Given the description of an element on the screen output the (x, y) to click on. 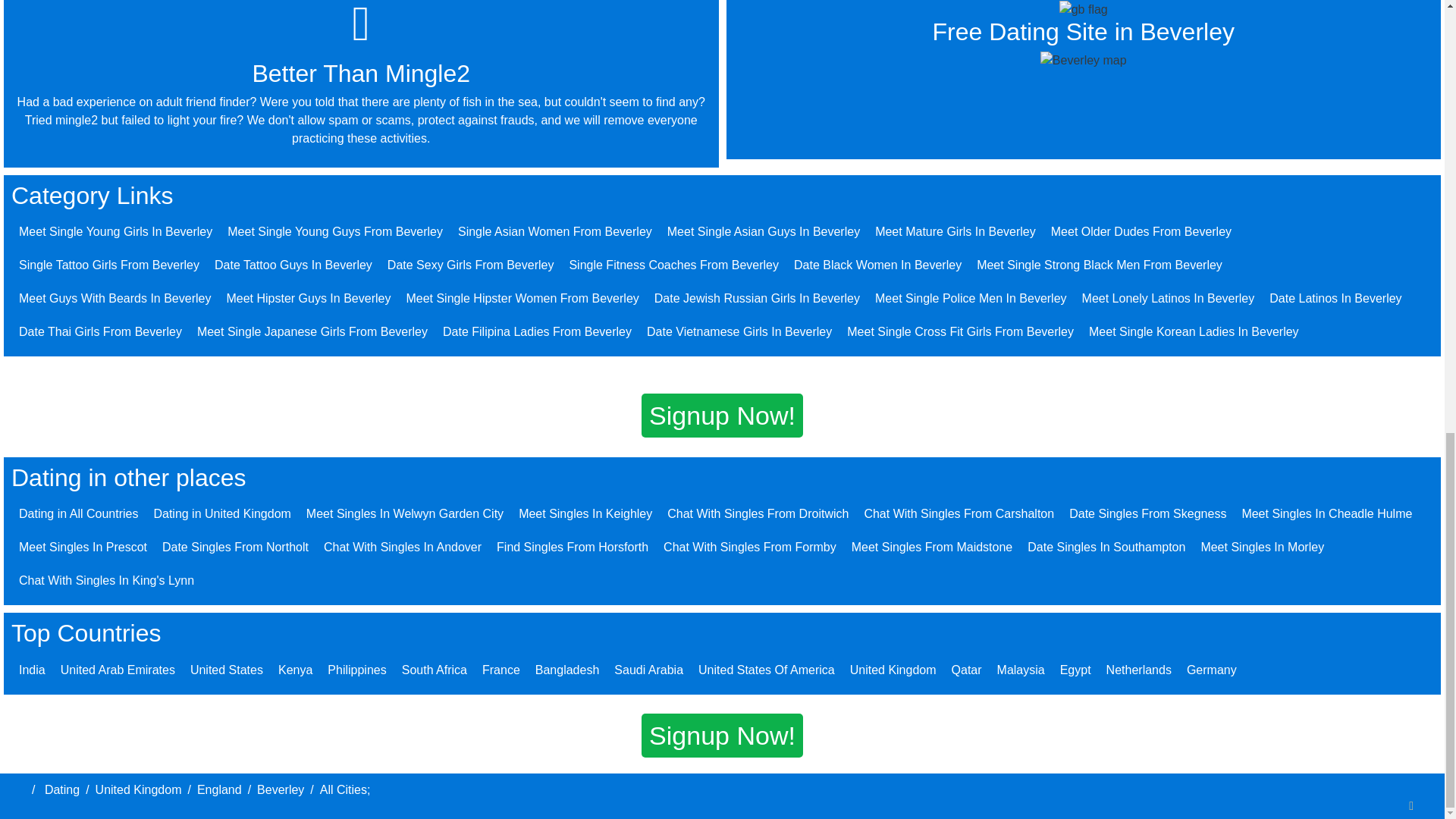
Meet Single Young Guys From Beverley (334, 231)
Single Asian Women From Beverley (555, 231)
Meet Single Young Girls In Beverley (115, 231)
Meet Single Asian Guys In Beverley (763, 231)
